Given the description of an element on the screen output the (x, y) to click on. 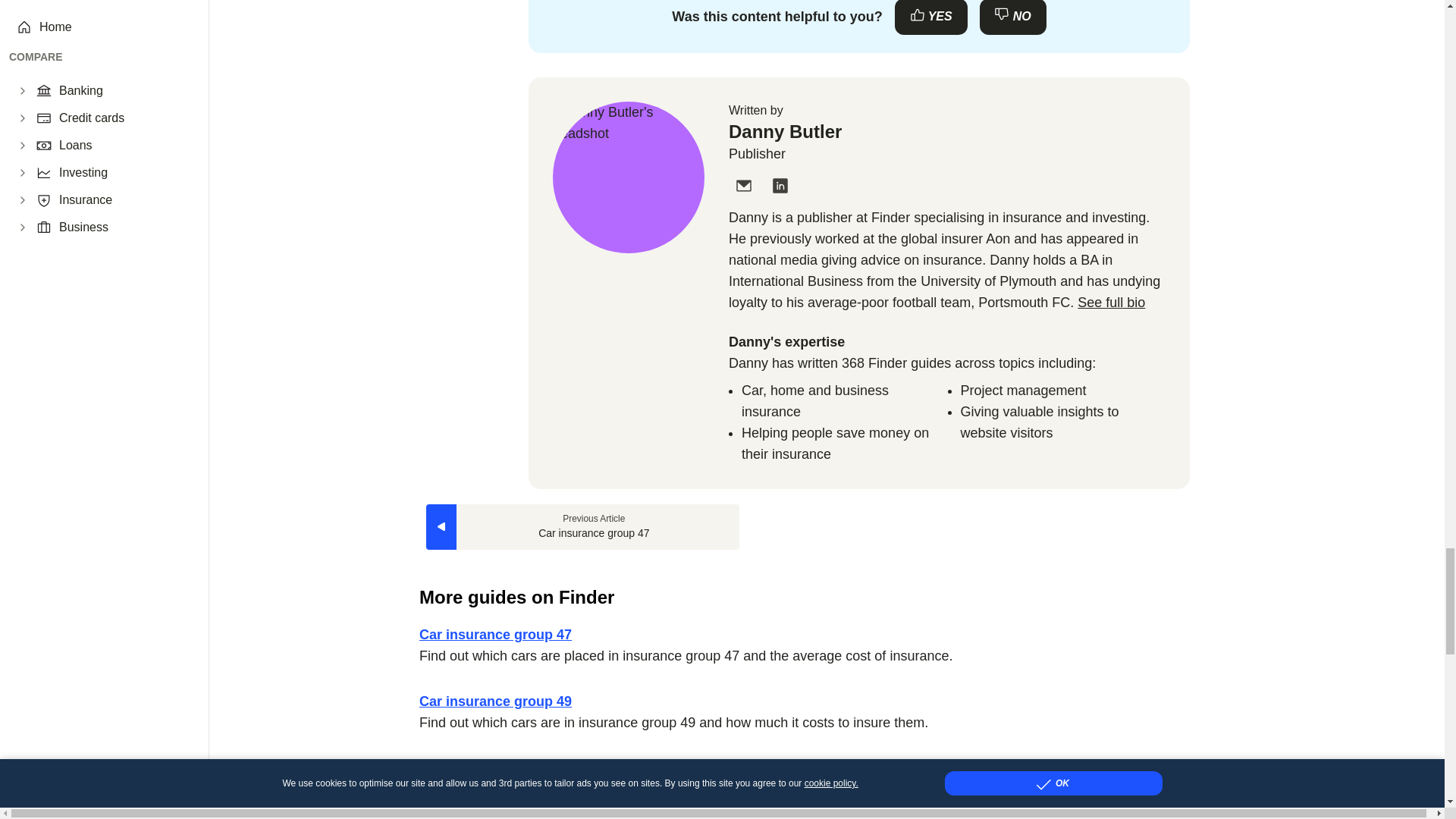
Car insurance group 47 (582, 526)
